Given the description of an element on the screen output the (x, y) to click on. 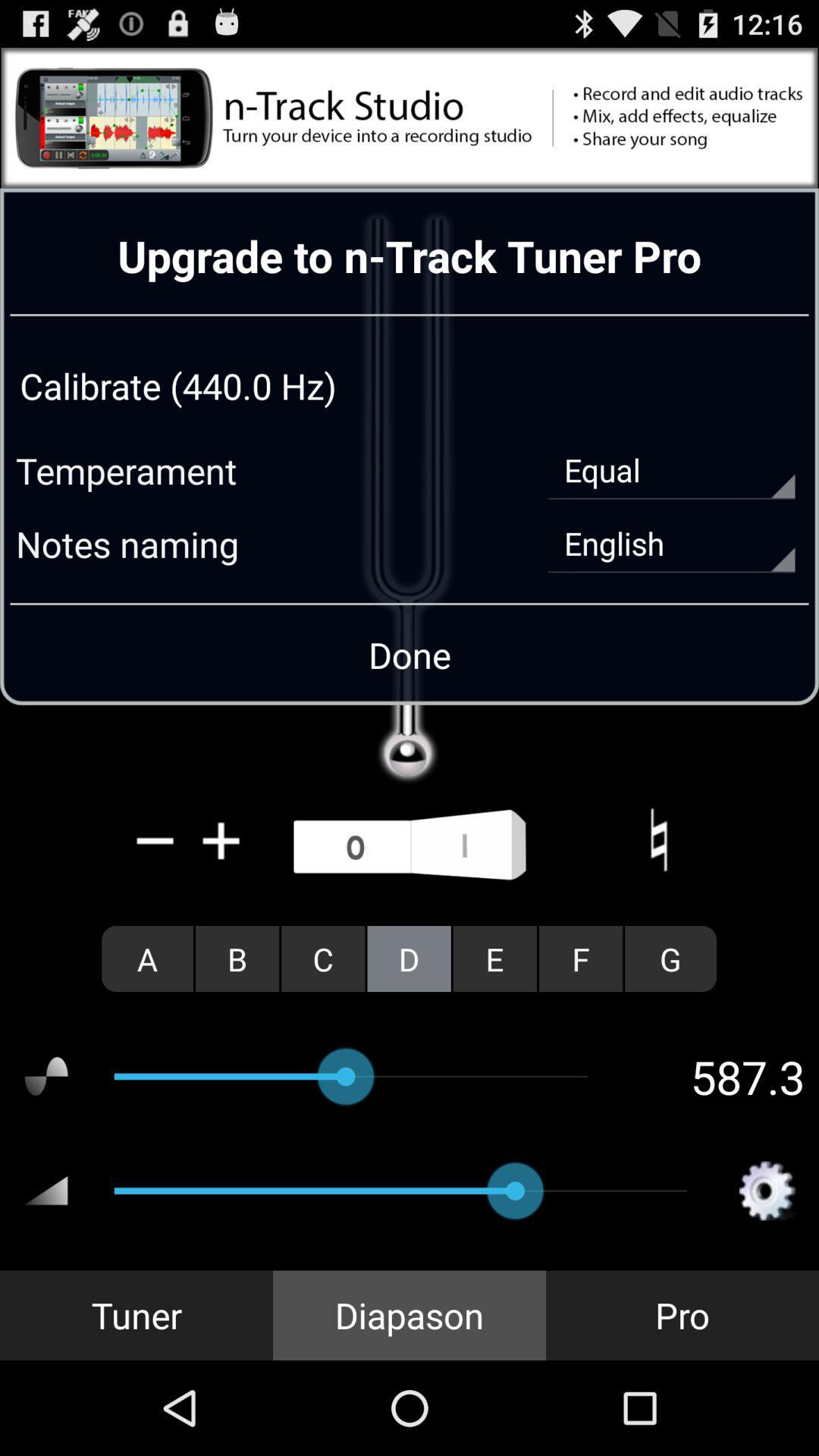
launch the f radio button (580, 958)
